Given the description of an element on the screen output the (x, y) to click on. 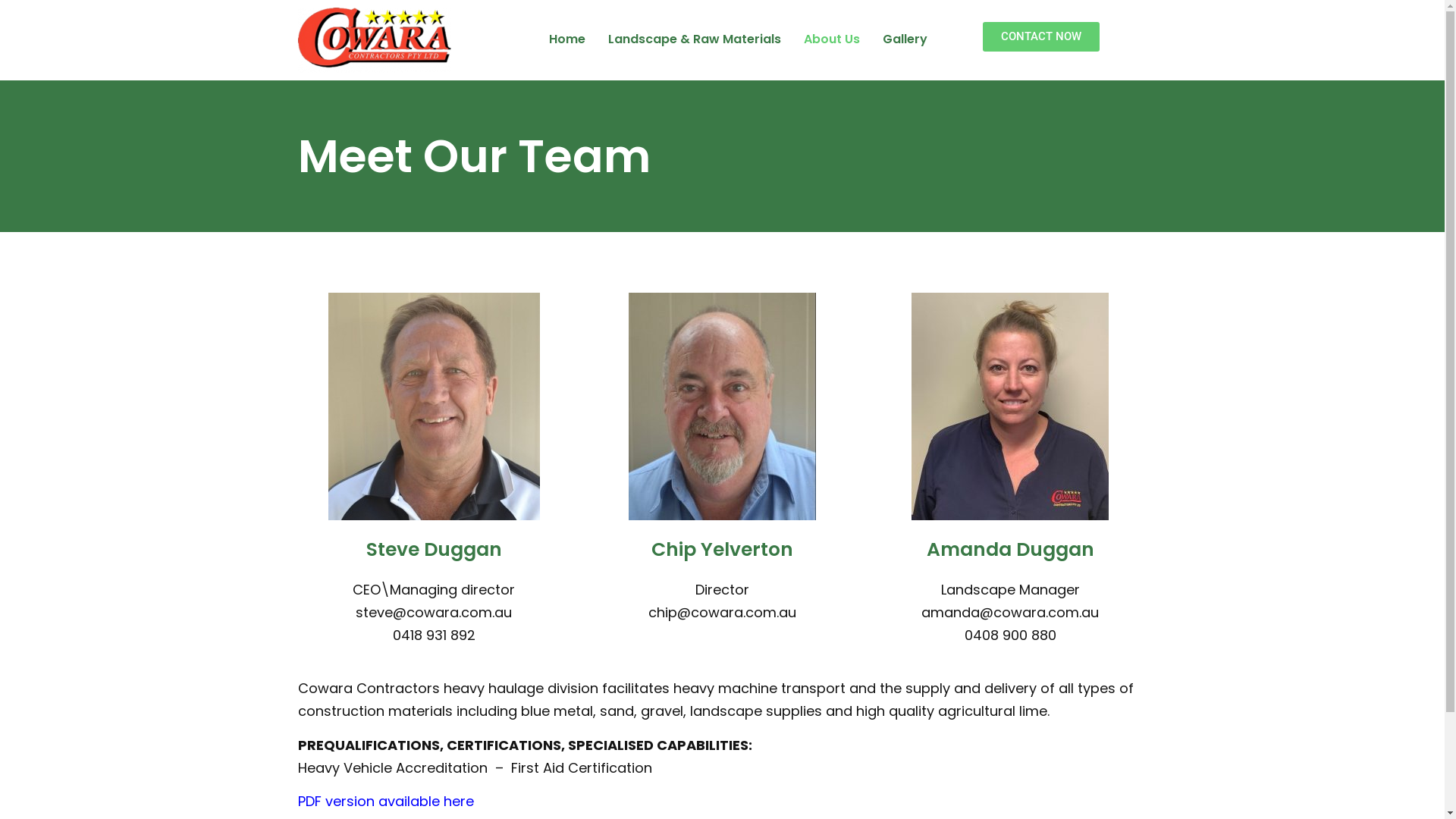
CONTACT NOW Element type: text (1040, 36)
here Element type: text (457, 800)
Gallery Element type: text (904, 38)
Landscape & Raw Materials Element type: text (694, 38)
Home Element type: text (566, 38)
About Us Element type: text (831, 38)
